Given the description of an element on the screen output the (x, y) to click on. 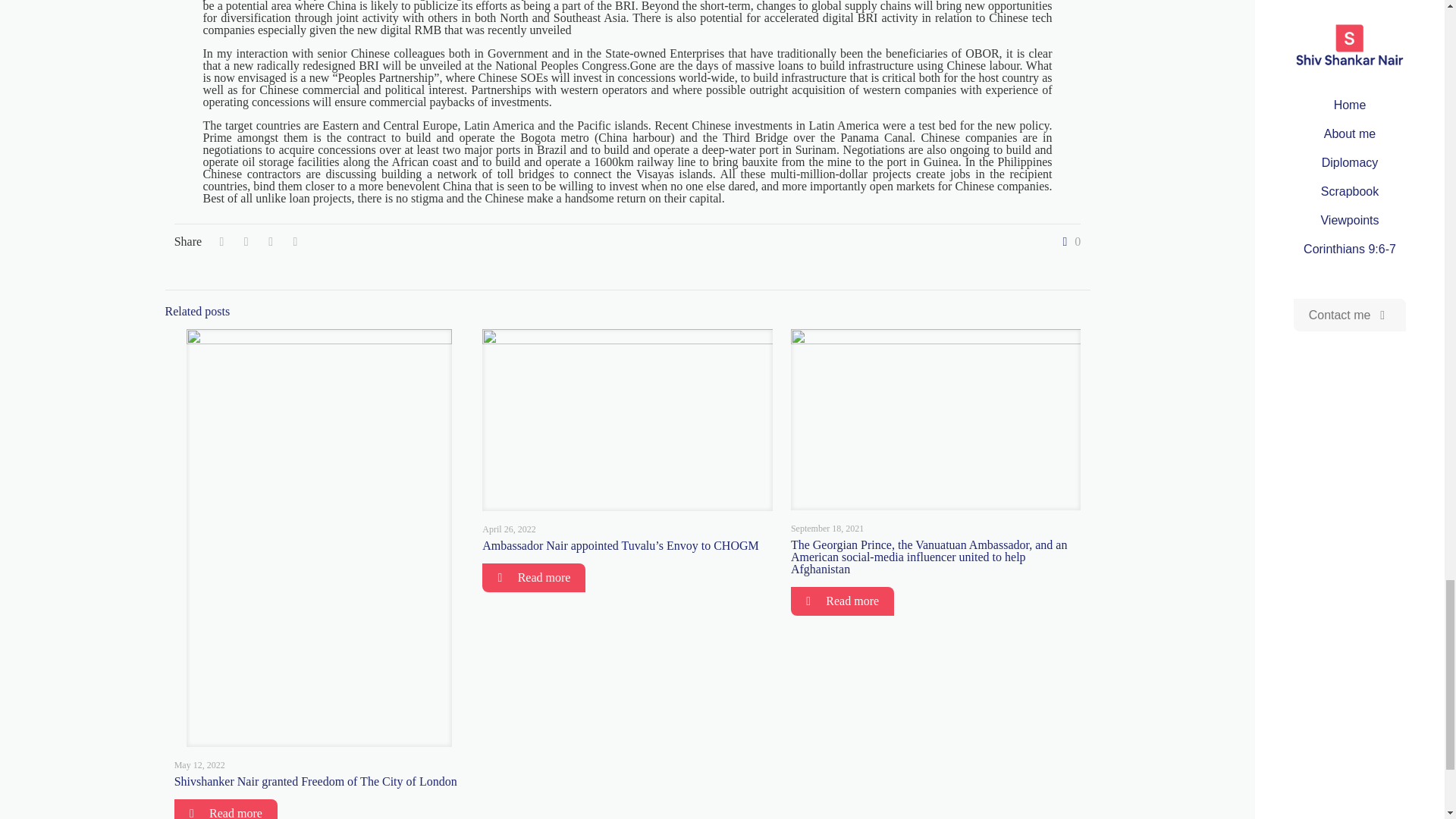
Read more (533, 577)
Shivshanker Nair granted Freedom of The City of London (315, 780)
Read more (841, 601)
0 (1068, 241)
Read more (226, 809)
